Given the description of an element on the screen output the (x, y) to click on. 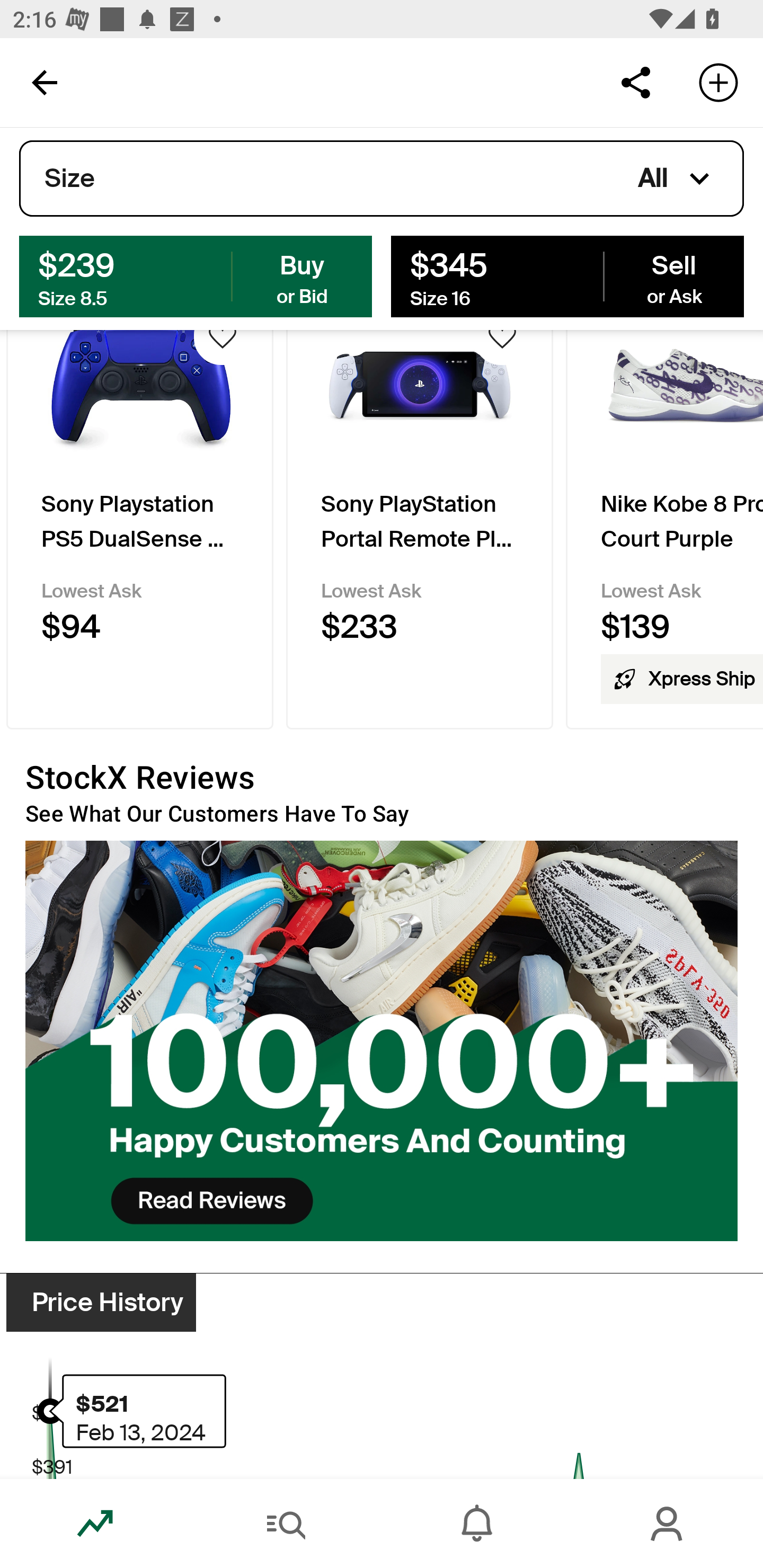
Share (635, 81)
Add (718, 81)
Size All (381, 178)
$239 Buy Size 8.5 or Bid (195, 275)
$345 Sell Size 16 or Ask (566, 275)
Search (285, 1523)
Inbox (476, 1523)
Account (667, 1523)
